Given the description of an element on the screen output the (x, y) to click on. 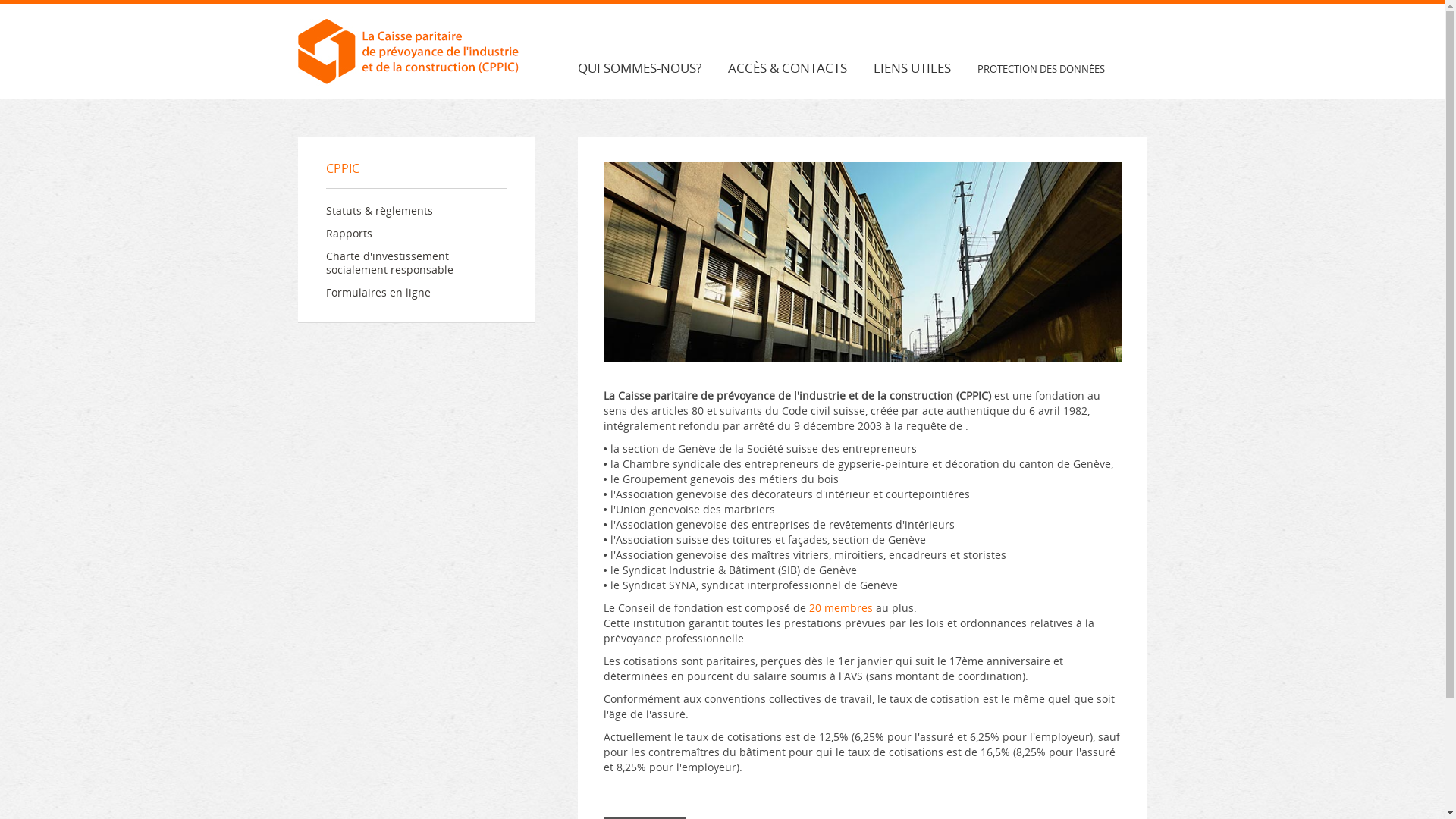
20 membres Element type: text (840, 607)
Rapports Element type: text (349, 232)
QUI SOMMES-NOUS? Element type: text (652, 68)
Formulaires en ligne Element type: text (378, 292)
LIENS UTILES Element type: text (925, 68)
Charte d'investissement socialement responsable Element type: text (389, 262)
